Given the description of an element on the screen output the (x, y) to click on. 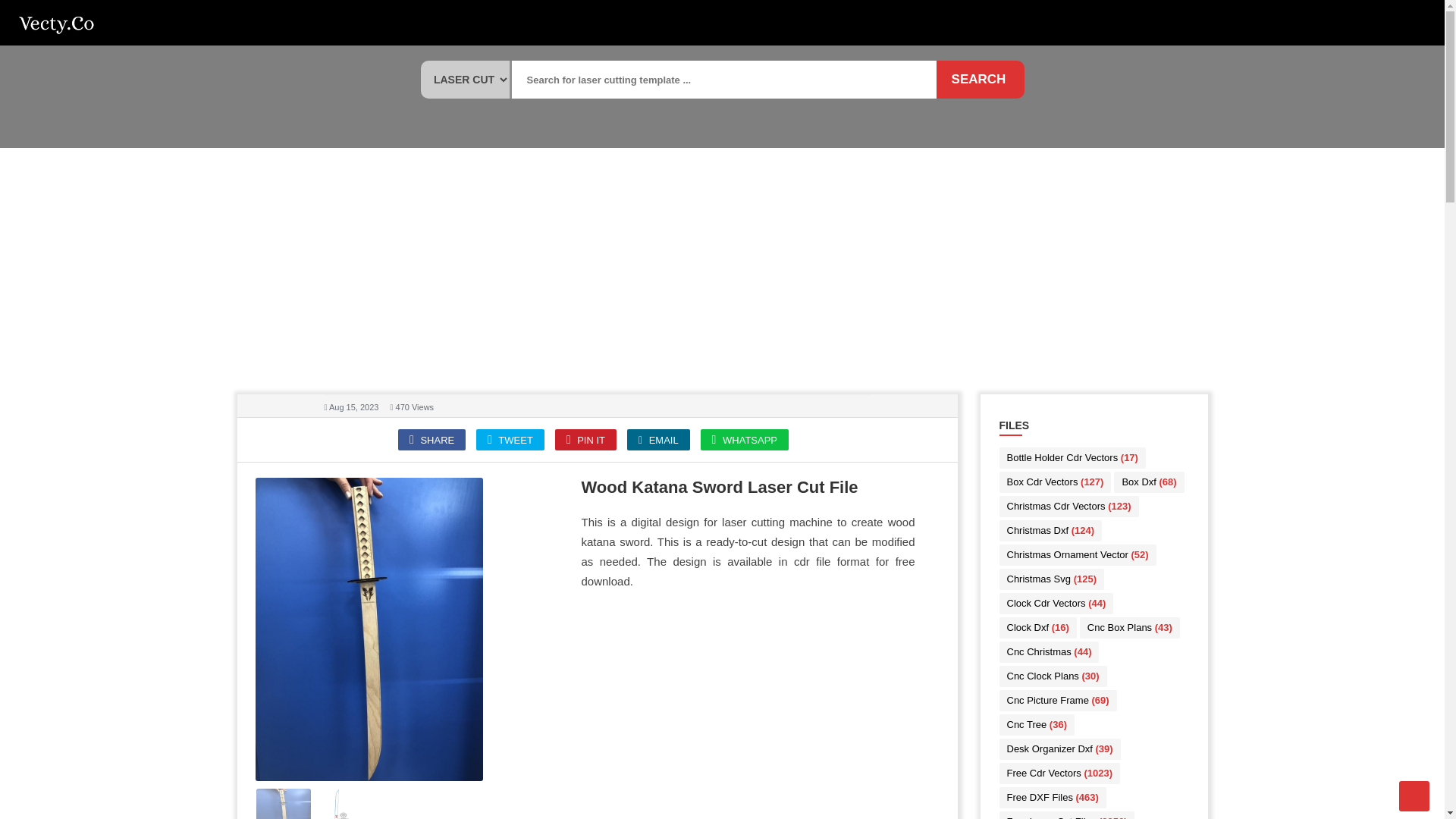
WHATSAPP (744, 439)
Advertisement (750, 704)
SHARE (431, 439)
EMAIL (658, 439)
PIN IT (584, 439)
TWEET (510, 439)
Search (978, 79)
Search (978, 79)
